Given the description of an element on the screen output the (x, y) to click on. 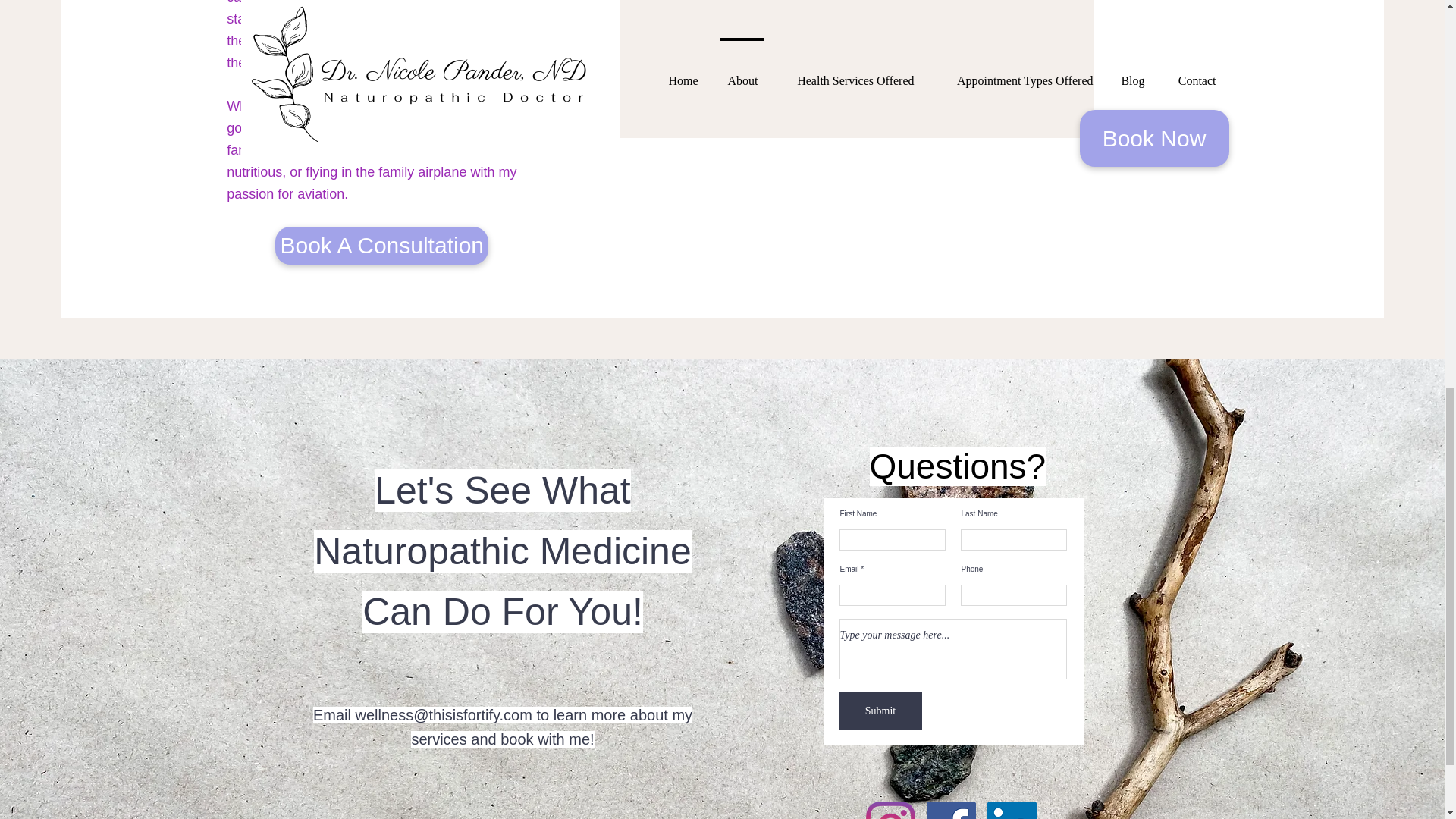
Book A Consultation (381, 245)
Submit (879, 711)
